Given the description of an element on the screen output the (x, y) to click on. 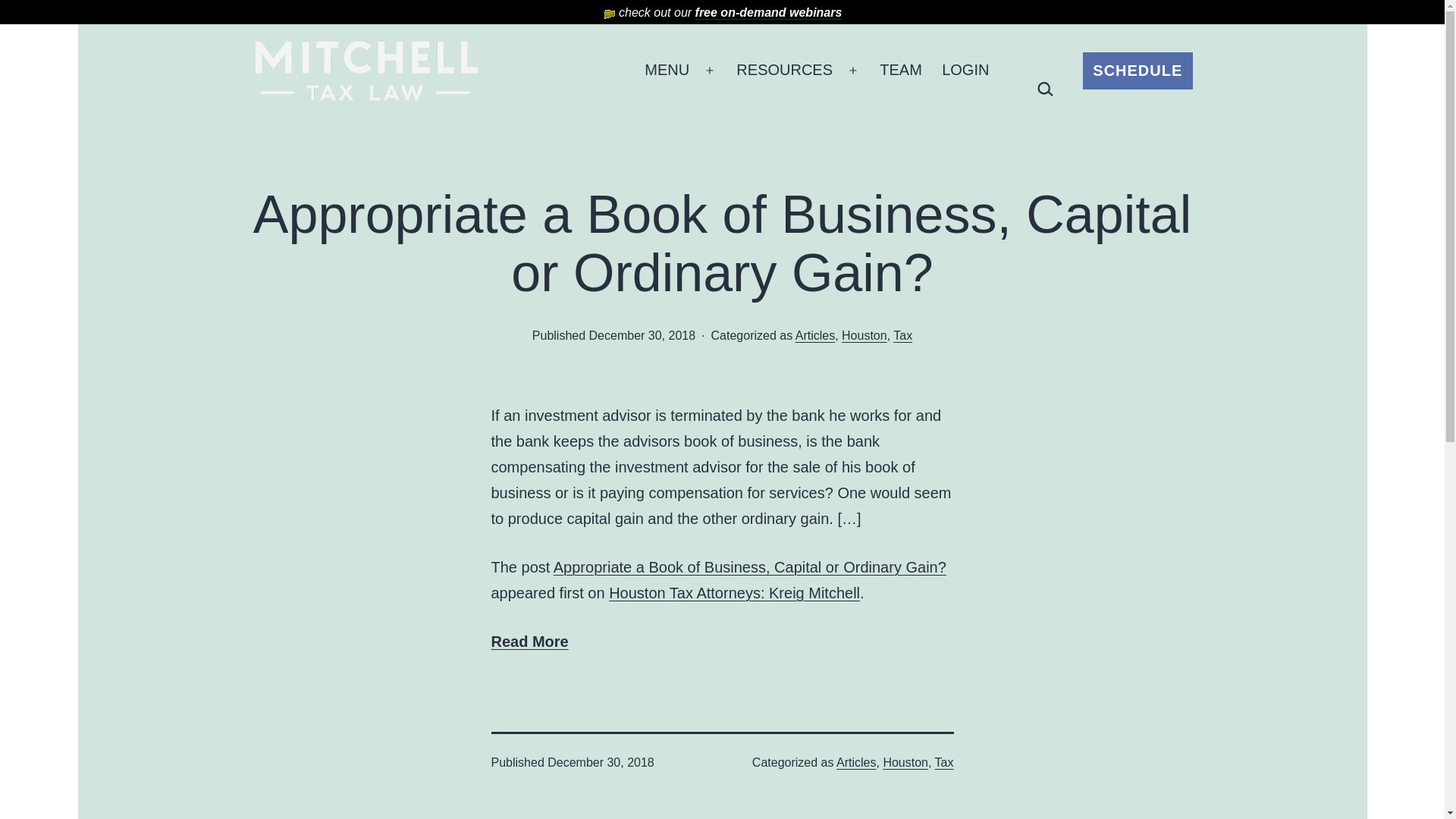
Houston (863, 335)
Appropriate a Book of Business, Capital or Ordinary Gain? (749, 566)
Tax (902, 335)
Houston Tax Attorneys: Kreig Mitchell (734, 592)
MENU (666, 70)
TEAM (900, 70)
Articles (855, 762)
LOGIN (964, 70)
Houston (905, 762)
